Given the description of an element on the screen output the (x, y) to click on. 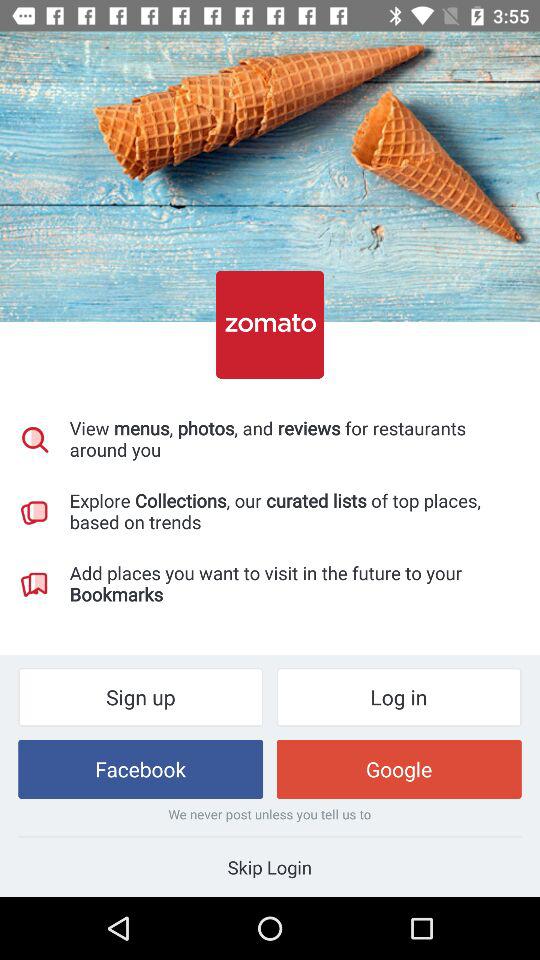
open the google item (398, 768)
